Given the description of an element on the screen output the (x, y) to click on. 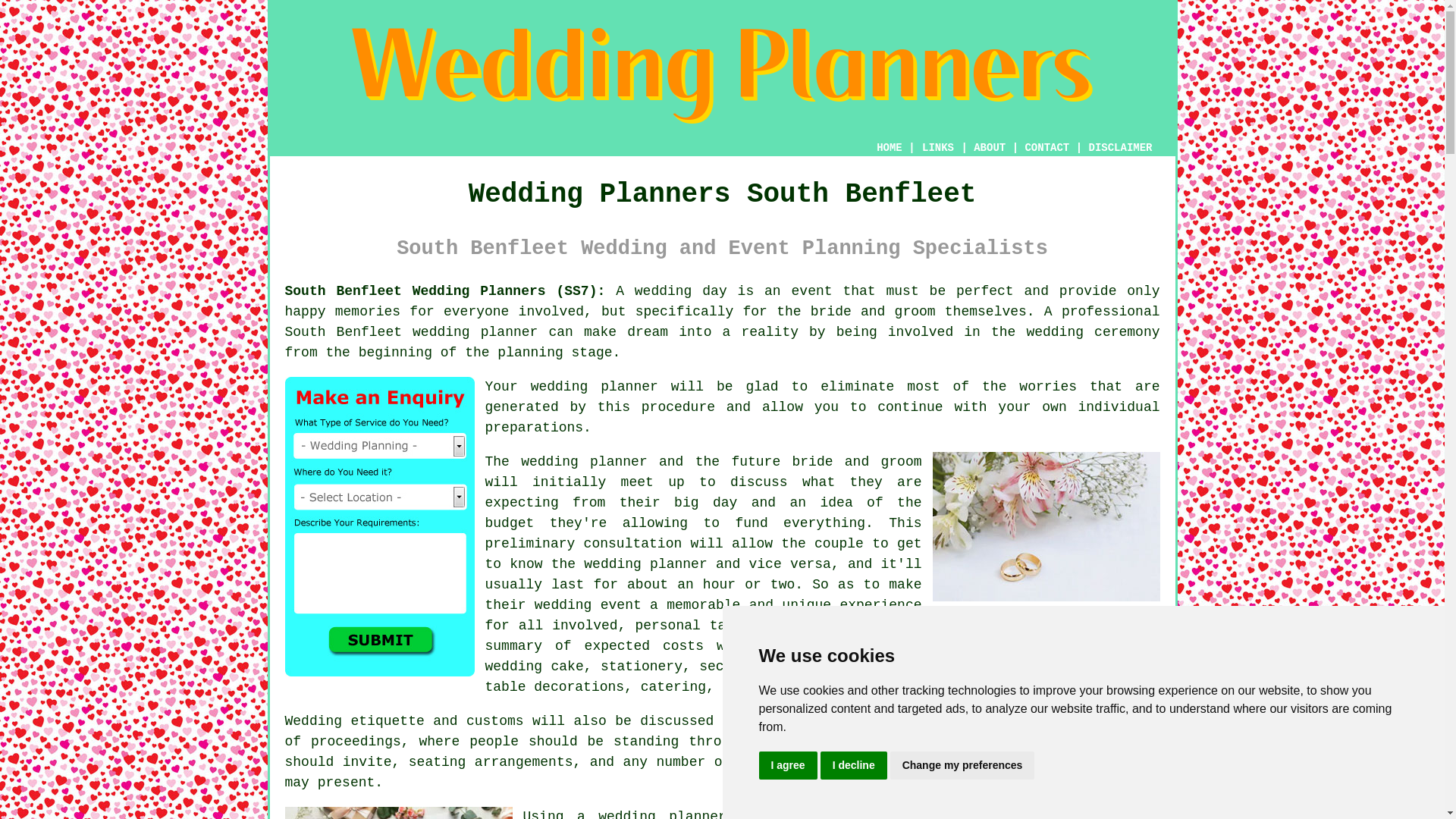
Change my preferences (962, 765)
HOME (889, 147)
I decline (853, 765)
LINKS (938, 147)
I agree (787, 765)
Wedding Planners South Benfleet (721, 75)
